Given the description of an element on the screen output the (x, y) to click on. 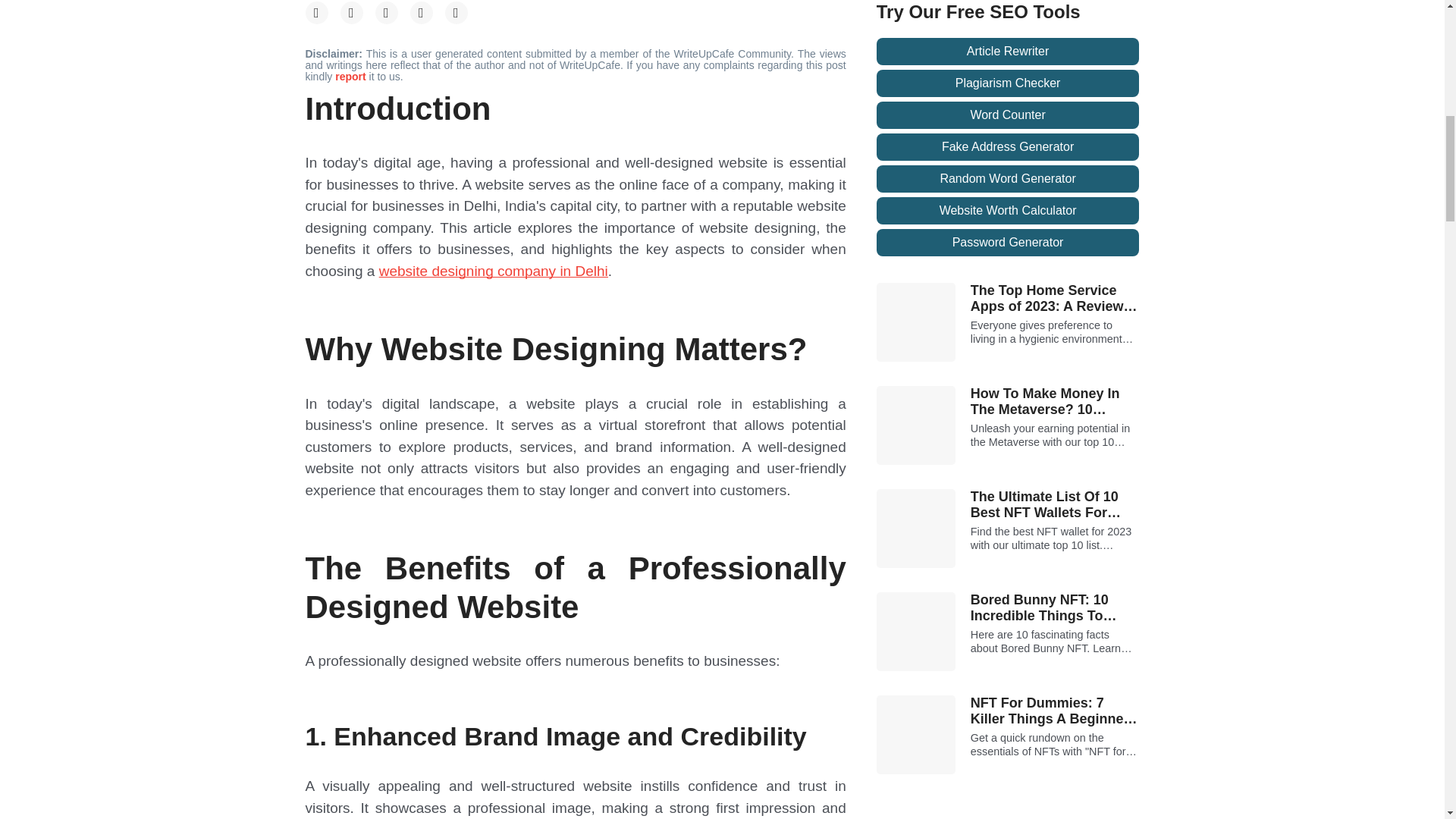
Plagiarism Checker (1008, 83)
report (351, 76)
Random Word Generator (1008, 178)
Article Rewriter (1008, 51)
website designing company in Delhi (493, 270)
Password Generator (1008, 242)
The Ultimate List Of 10 Best NFT Wallets For 2023 (1055, 504)
Website Worth Calculator (1008, 210)
